Given the description of an element on the screen output the (x, y) to click on. 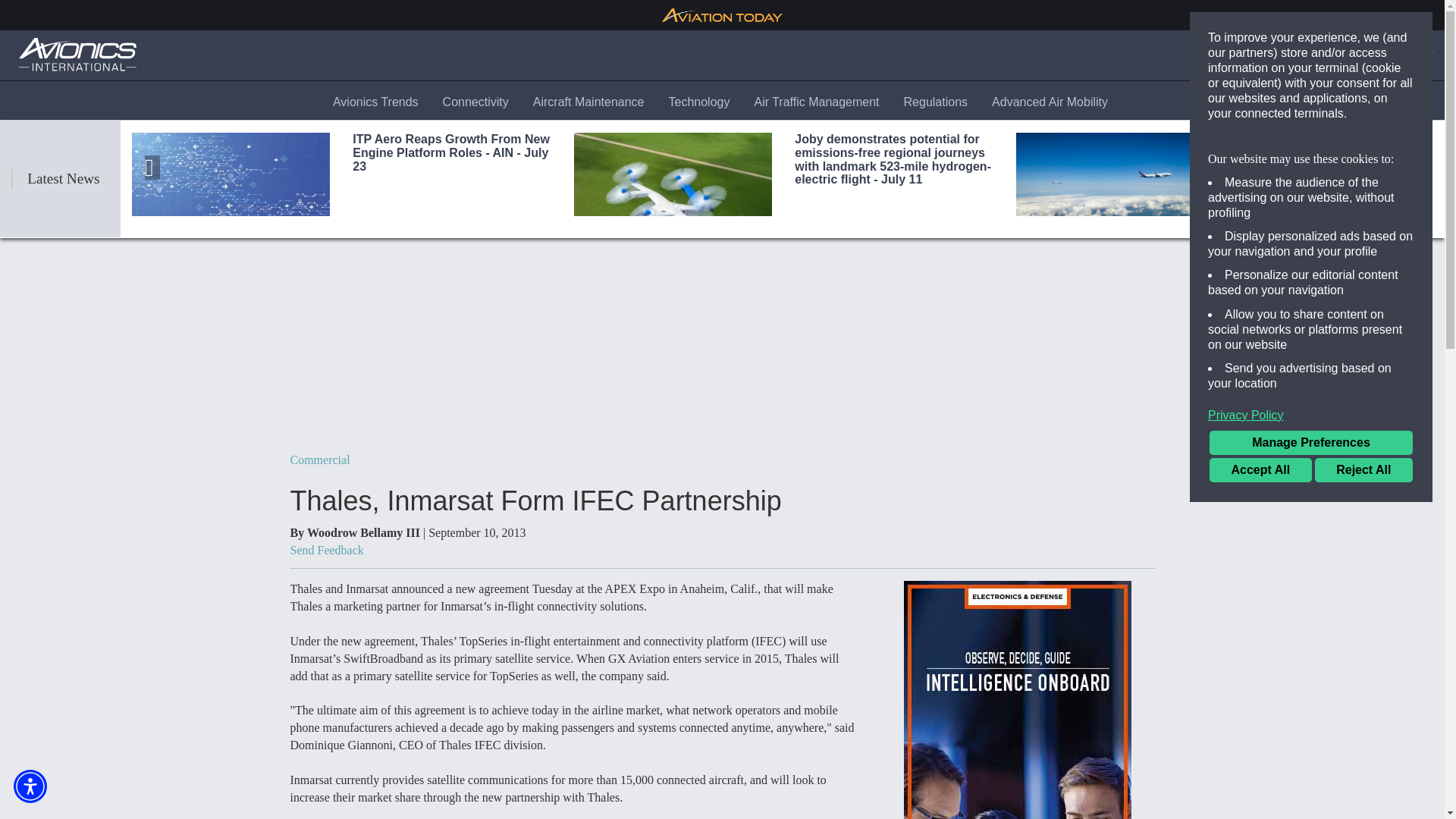
Search (1274, 55)
Reject All (1363, 469)
Accept All (1260, 469)
Privacy Policy (1310, 415)
Subscribe (1342, 55)
3rd party ad content (1017, 699)
Manage Preferences (1310, 442)
Accessibility Menu (29, 786)
